Given the description of an element on the screen output the (x, y) to click on. 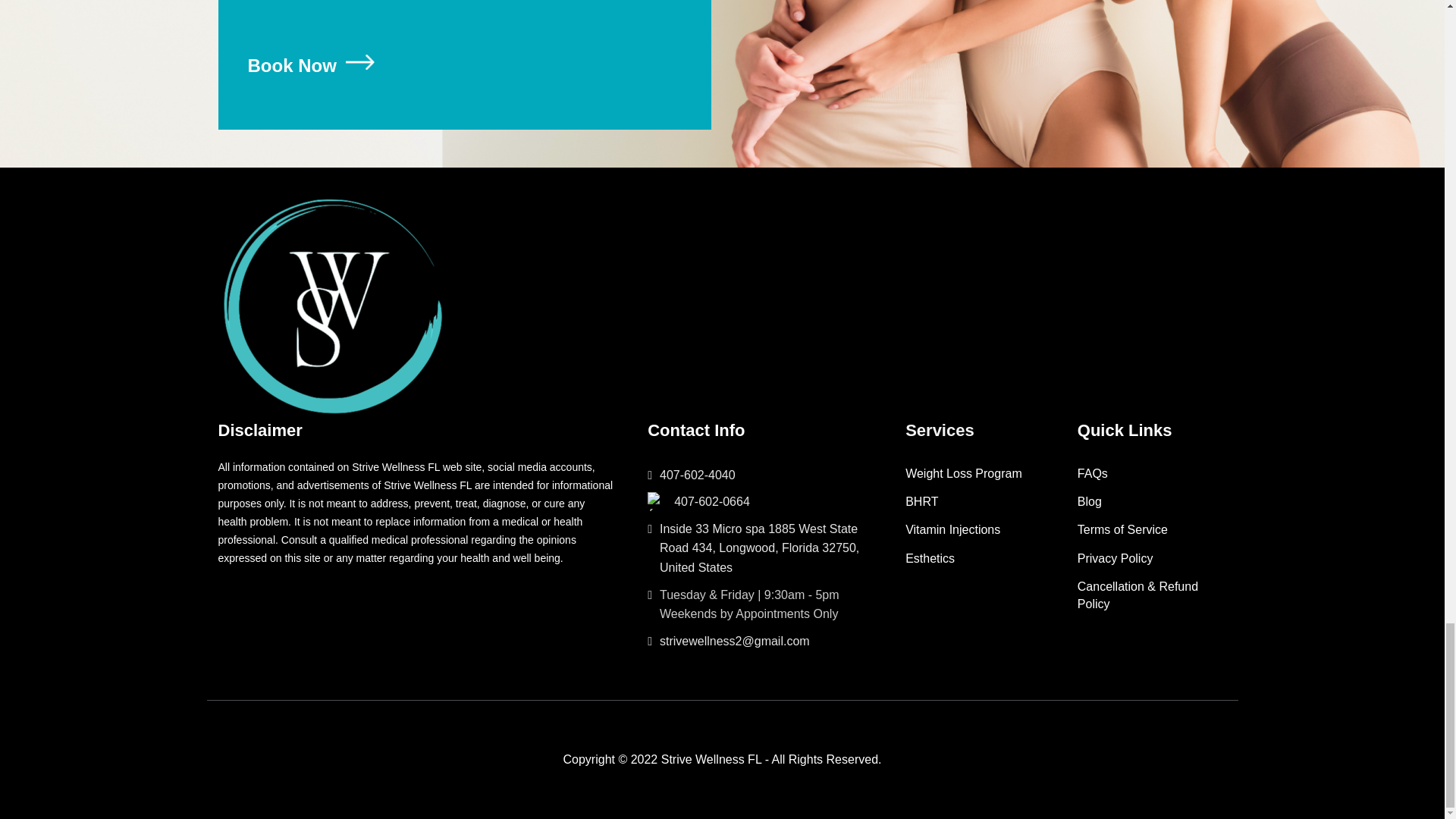
Book Now (314, 66)
sw light (331, 306)
fax (656, 501)
